Given the description of an element on the screen output the (x, y) to click on. 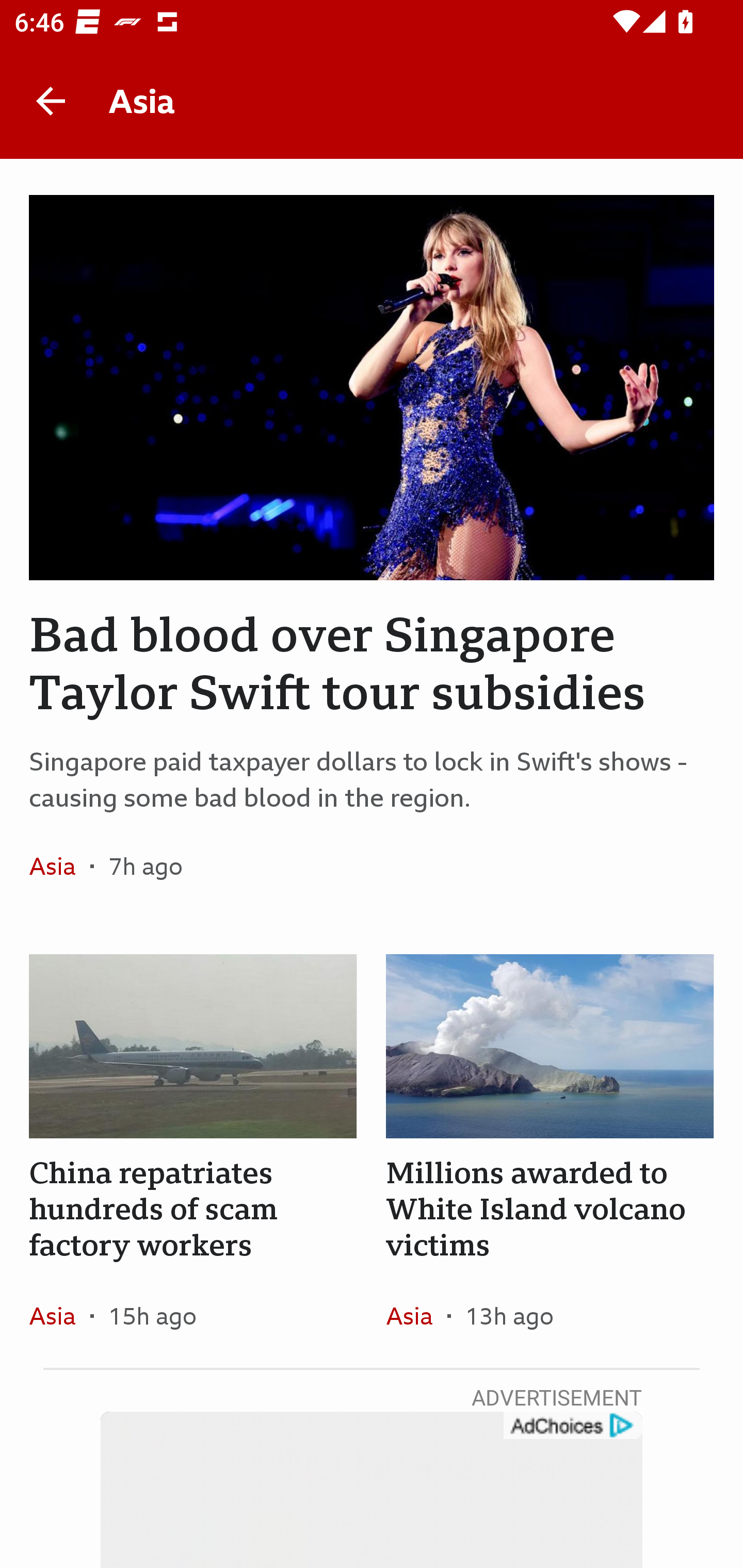
Back (50, 101)
Asia In the section Asia (59, 865)
Asia In the section Asia (59, 1315)
Asia In the section Asia (416, 1315)
Video Player get?name=admarker-full-tl   (371, 1489)
get?name=admarker-full-tl (571, 1425)
